Given the description of an element on the screen output the (x, y) to click on. 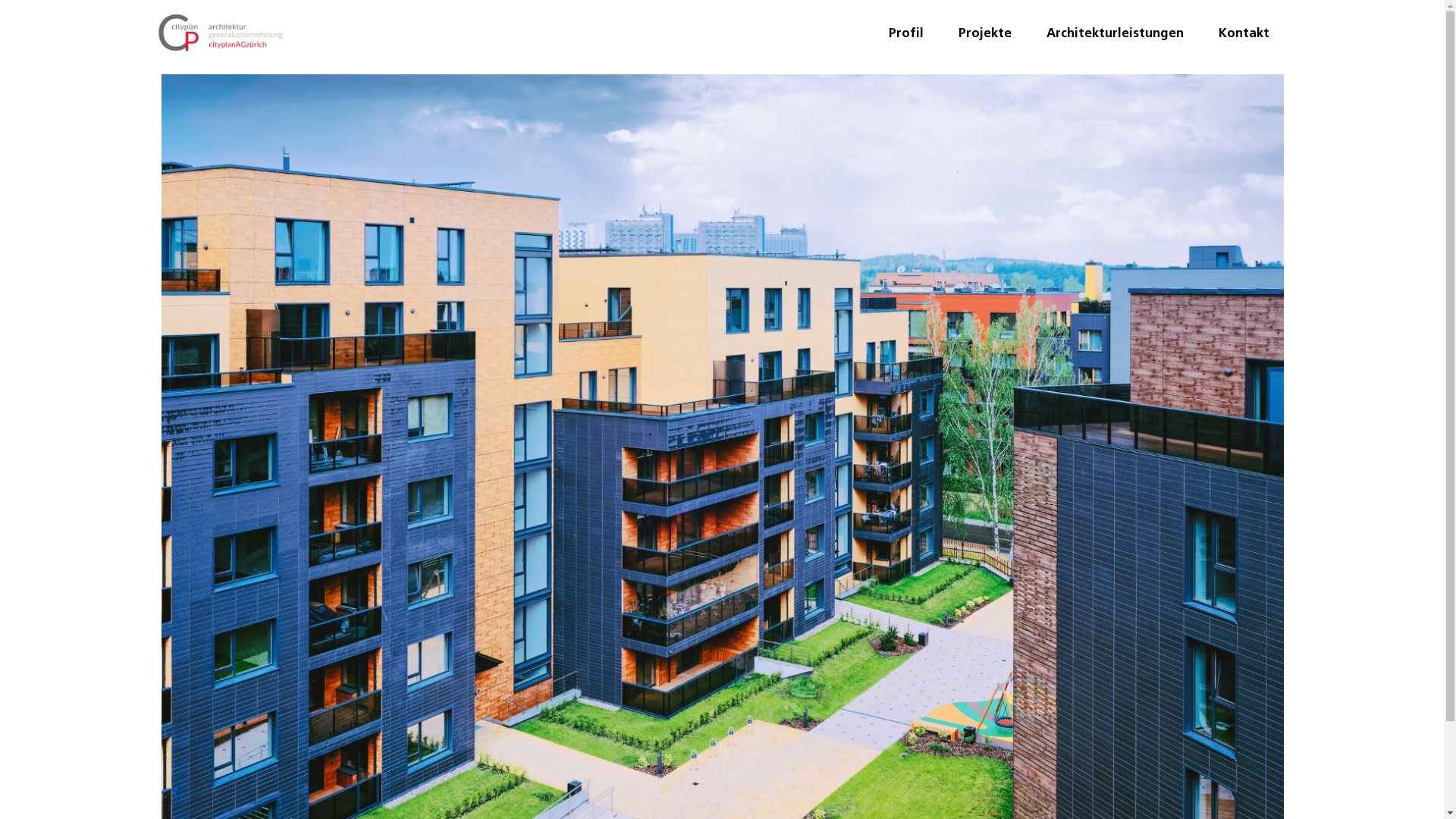
Kontakt Element type: text (1243, 32)
Profil Element type: text (906, 32)
Projekte Element type: text (985, 32)
Architekturleistungen Element type: text (1115, 32)
